Given the description of an element on the screen output the (x, y) to click on. 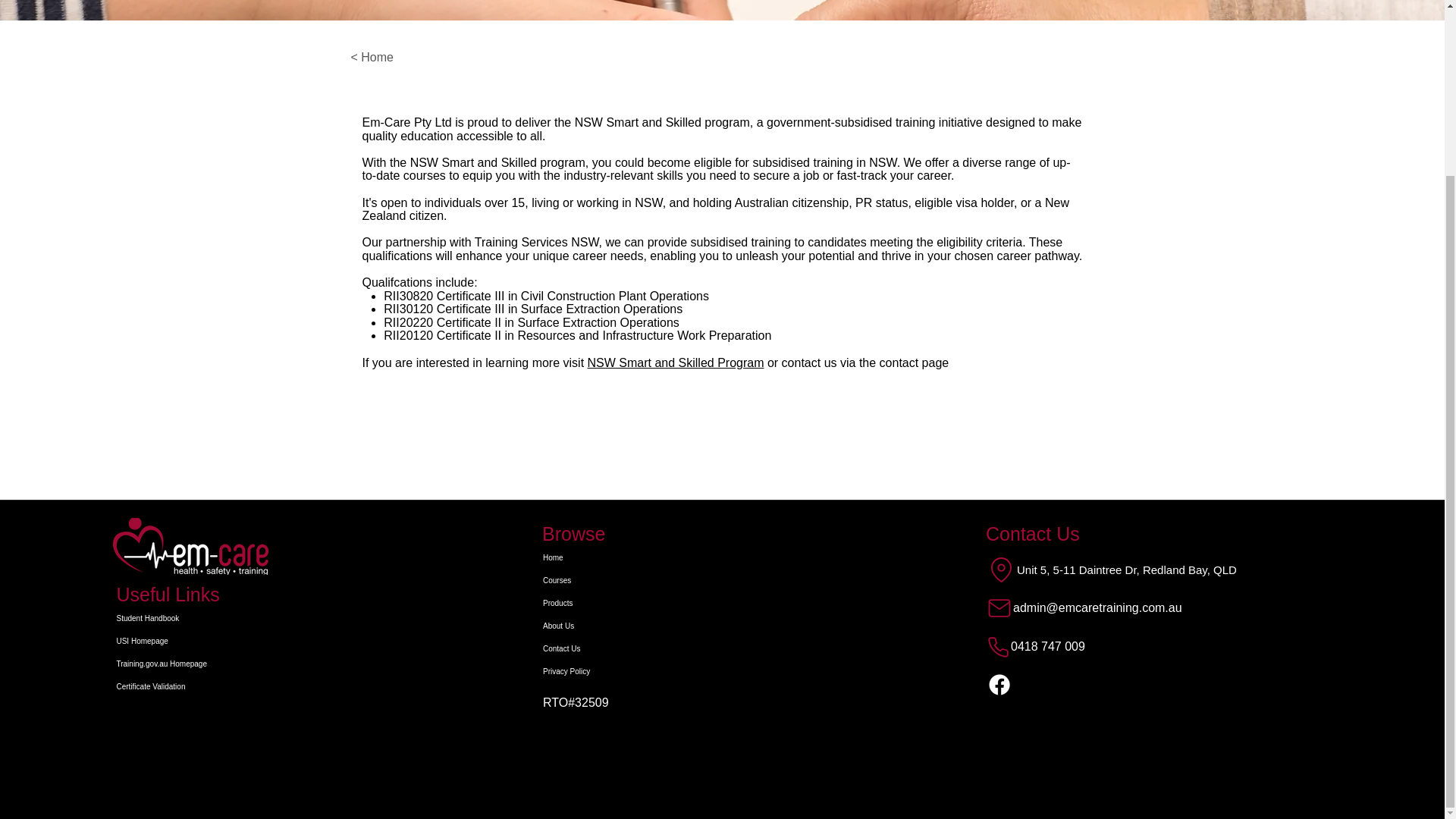
NSW Smart and Skilled Program (676, 362)
0418 747 009 (1136, 646)
Unit 5, 5-11 Daintree Dr, Redland Bay, QLD (1136, 569)
Contact Us (583, 649)
Home (583, 558)
Training.gov.au Homepage (192, 663)
Courses (583, 580)
Privacy Policy (583, 671)
Products (583, 603)
Certificate Validation (192, 686)
USI Homepage (192, 640)
About Us (583, 626)
Student Handbook (192, 618)
